Given the description of an element on the screen output the (x, y) to click on. 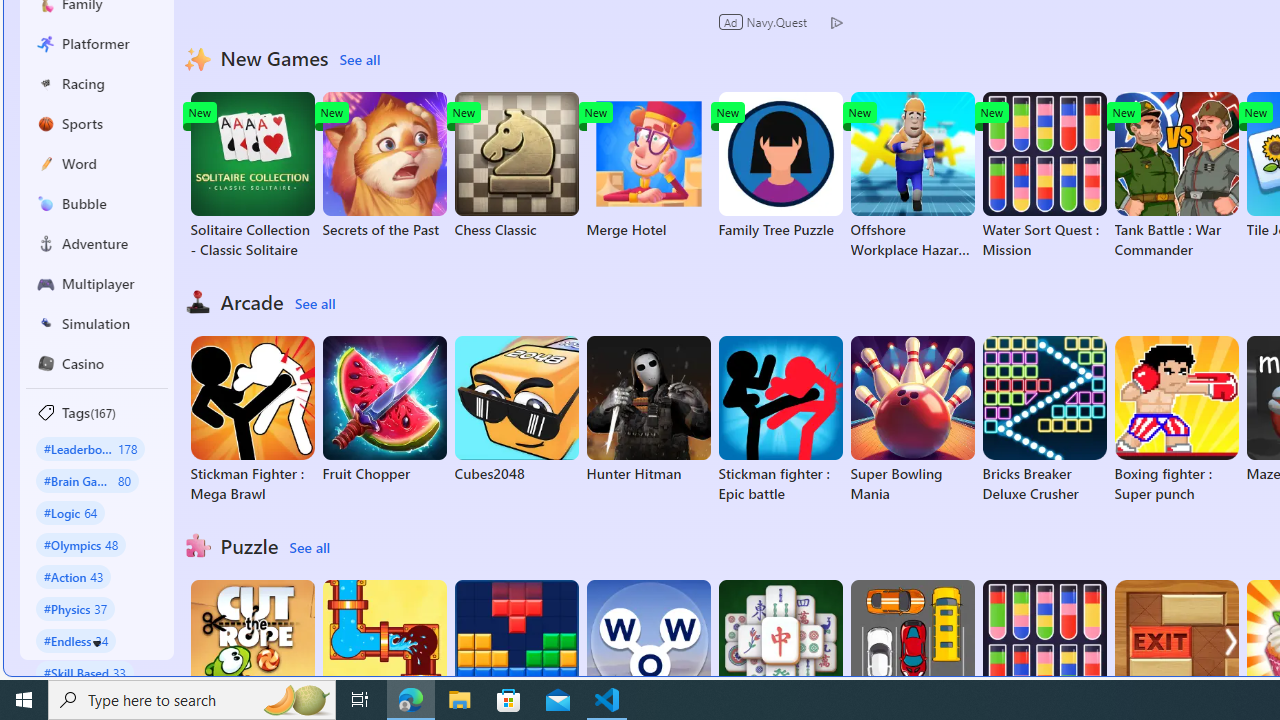
#Endless 34 (75, 640)
Solitaire Collection - Classic Solitaire (251, 175)
#Olympics 48 (80, 544)
#Leaderboard 178 (90, 448)
Bricks Breaker Deluxe Crusher (1044, 419)
Water Sort Quest : Mission (1044, 175)
#Physics 37 (75, 608)
#Brain Games 80 (87, 480)
#Logic 64 (70, 511)
Tank Battle : War Commander (1176, 175)
Class: ad-choice  ad-choice-mono  (836, 21)
See all (309, 547)
#Action 43 (73, 575)
